Given the description of an element on the screen output the (x, y) to click on. 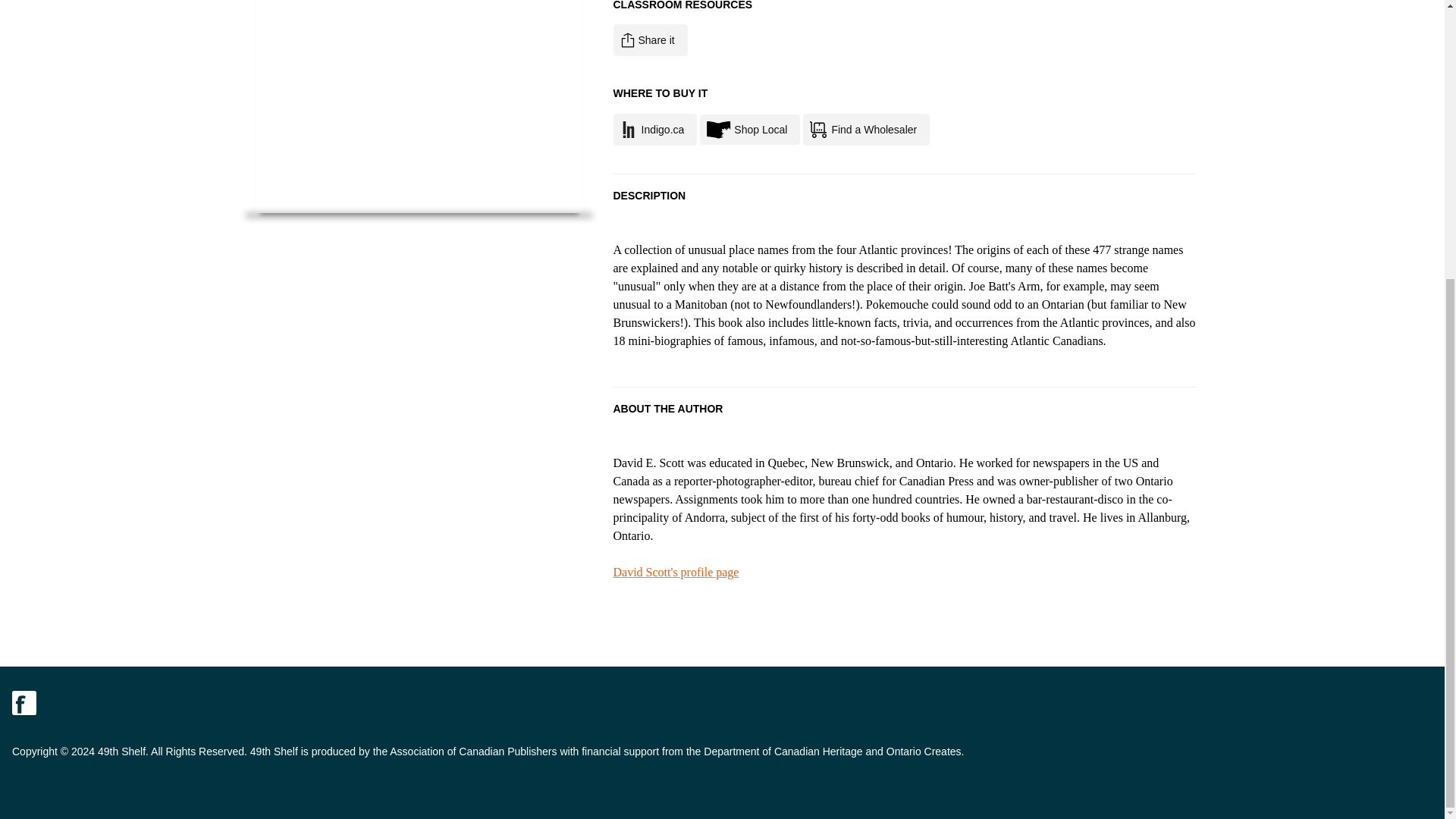
FACEBOOK (23, 702)
Share it (649, 40)
Find a Wholesaler (866, 129)
Indigo.ca (654, 129)
David Scott's profile page (675, 571)
Visit us on Twitter (57, 702)
TWITTER (57, 702)
Buy at Indigo (654, 129)
INSTAGRAM (90, 702)
Shop Local (749, 129)
